Given the description of an element on the screen output the (x, y) to click on. 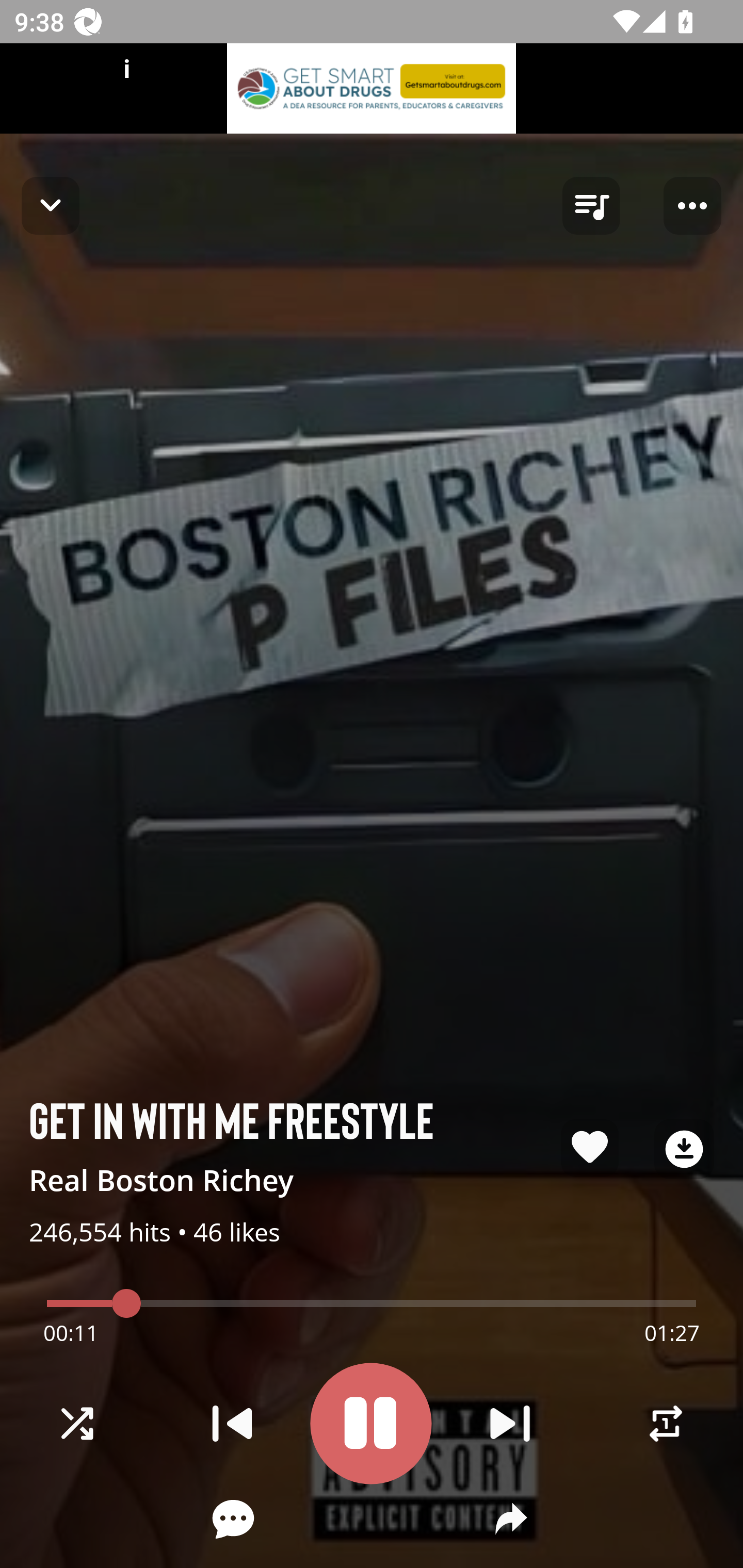
Navigate up (50, 205)
queue (590, 206)
Player options (692, 206)
